Given the description of an element on the screen output the (x, y) to click on. 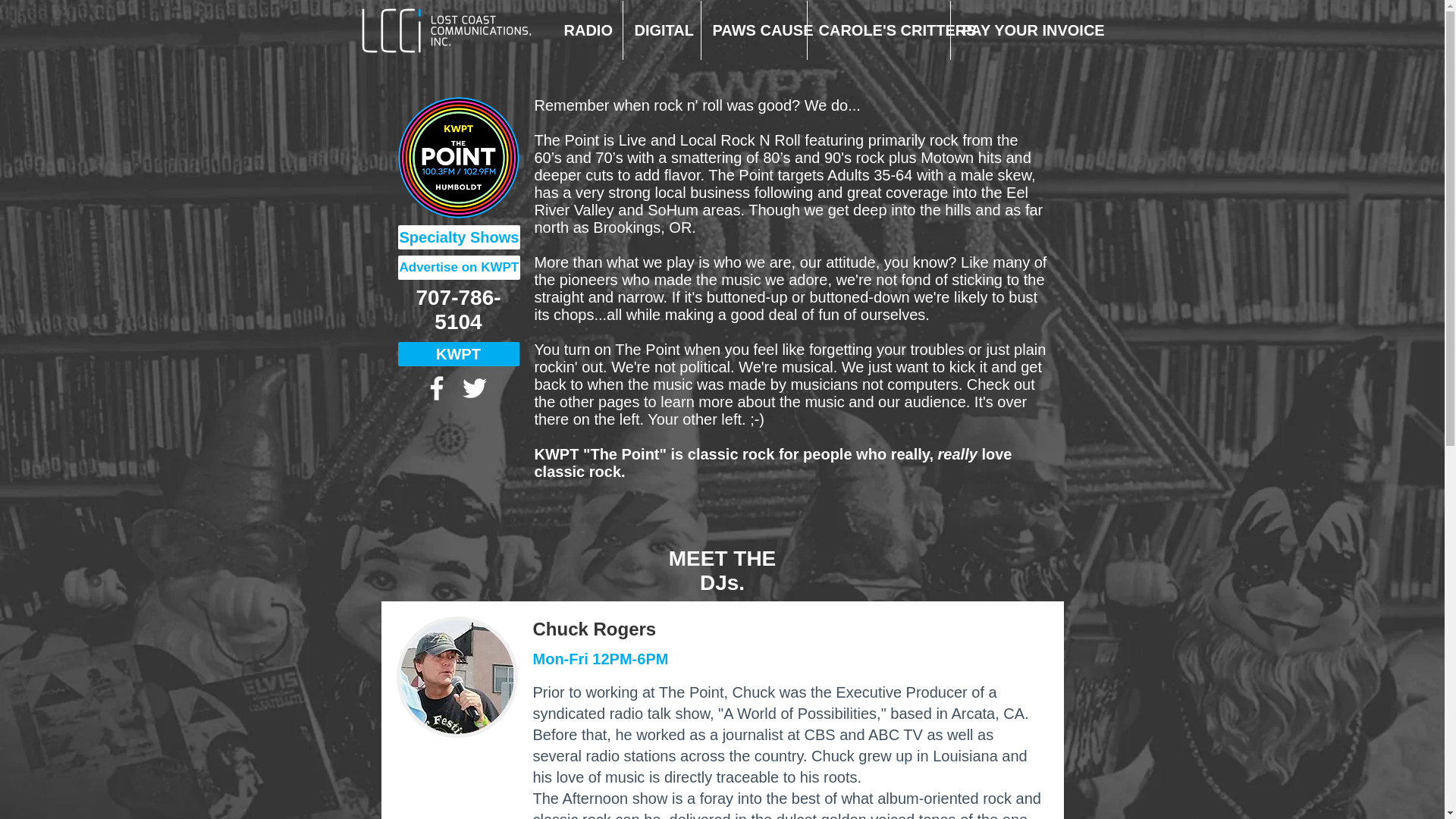
CAROLE'S CRITTERS (878, 29)
PAWS CAUSE (753, 29)
KWPT (457, 354)
Advertise on KWPT (458, 267)
Specialty Shows (458, 237)
